Given the description of an element on the screen output the (x, y) to click on. 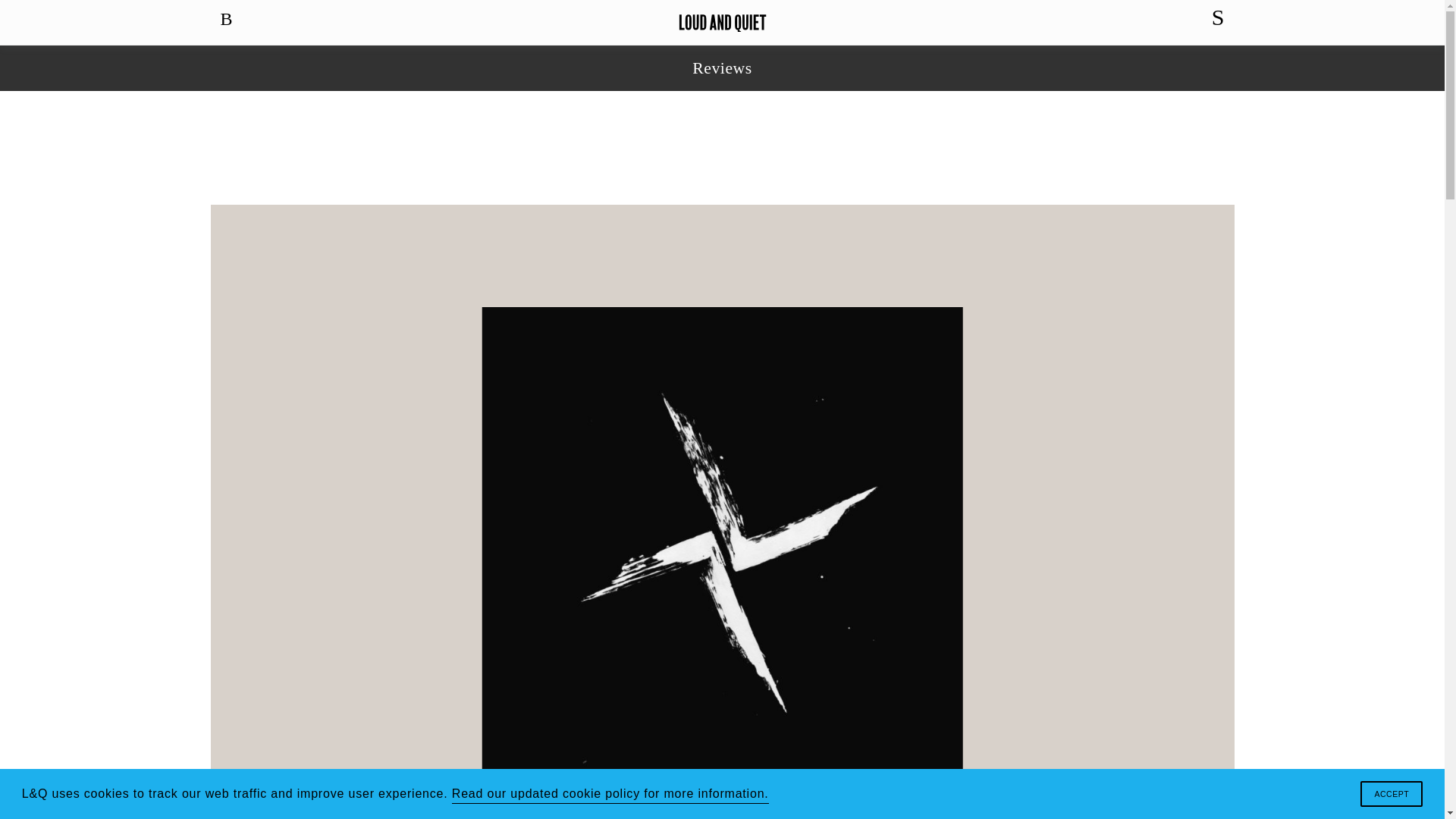
ACCEPT (1390, 793)
Read our updated cookie policy for more information. (609, 793)
3rd party ad content (722, 147)
Loud And Quiet (721, 22)
Loud And Quiet (721, 22)
